Given the description of an element on the screen output the (x, y) to click on. 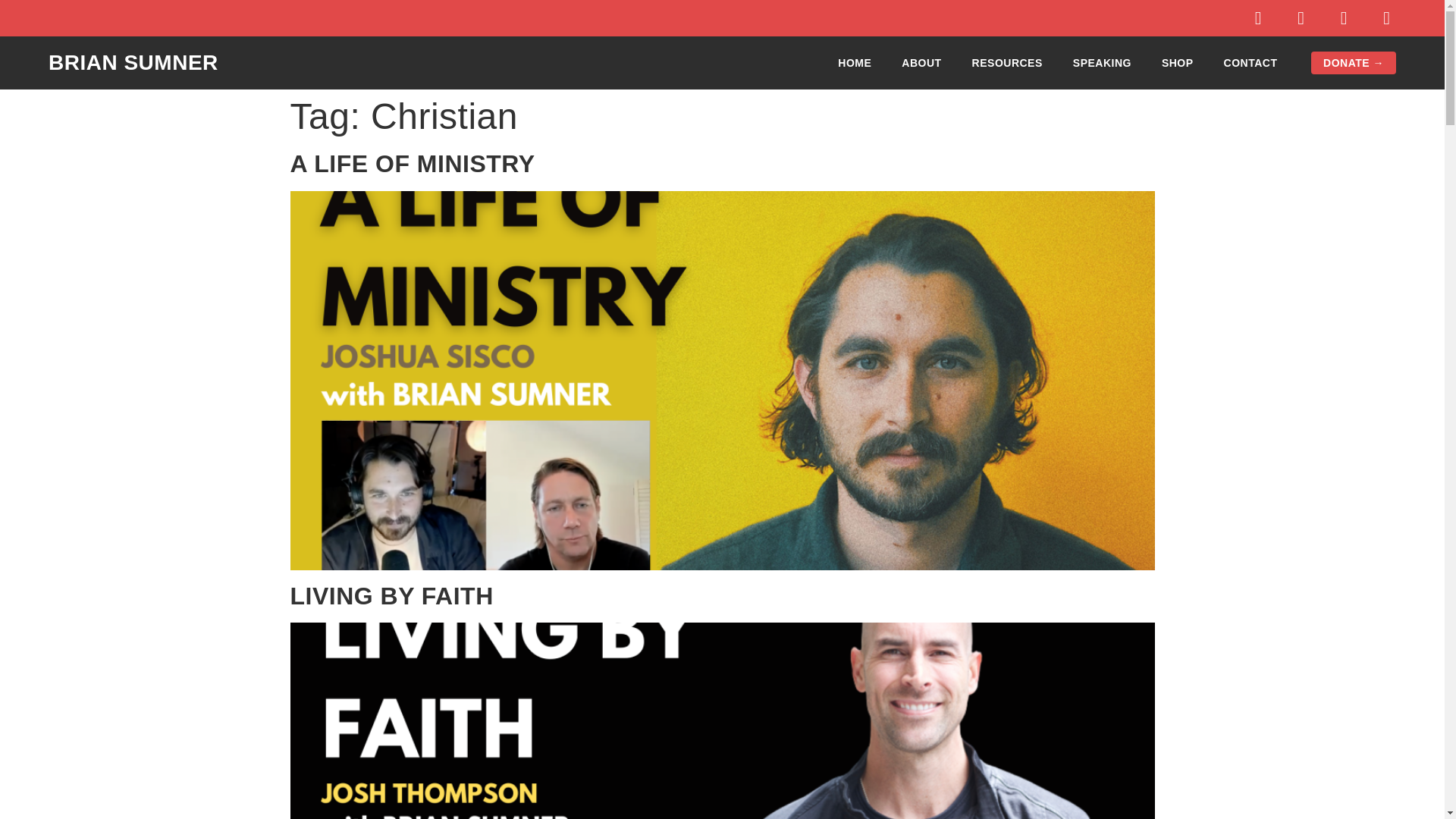
ABOUT (921, 62)
BRIAN SUMNER (133, 62)
HOME (854, 62)
